Given the description of an element on the screen output the (x, y) to click on. 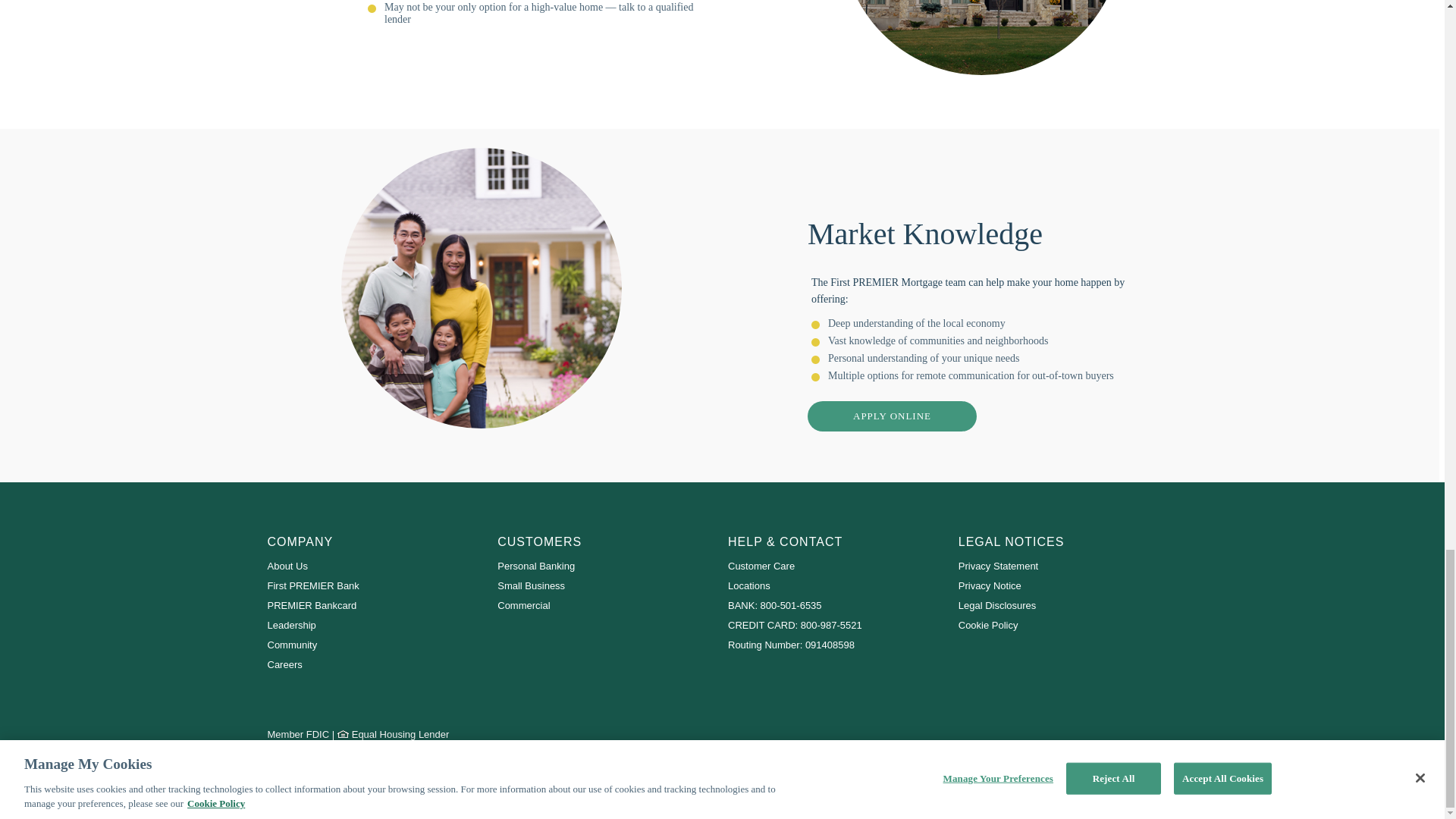
Market Knowledge (480, 288)
Equal Housing Lender (344, 731)
What to Know About Jumbo Loans (981, 37)
